Given the description of an element on the screen output the (x, y) to click on. 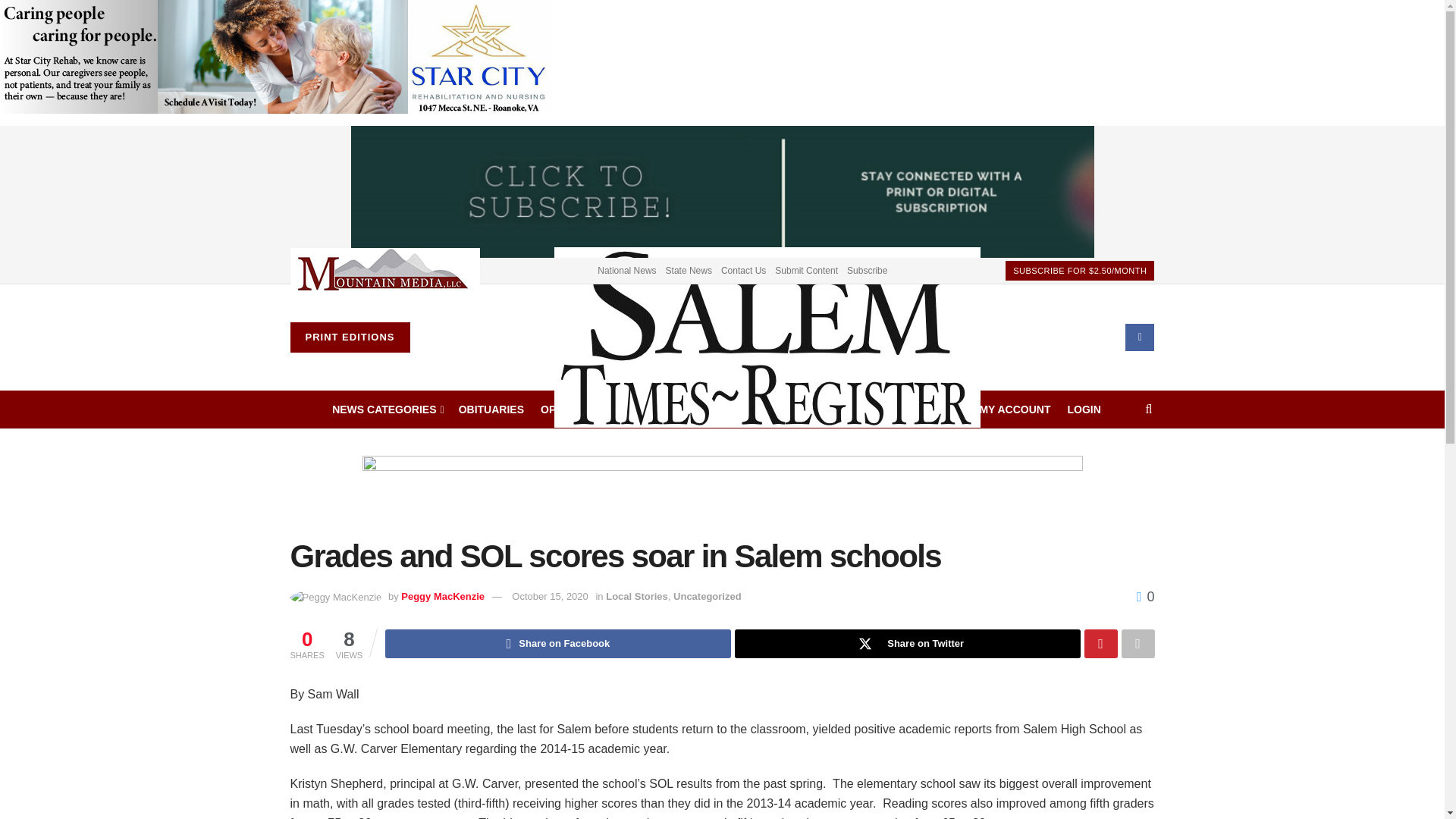
PRINT EDITIONS (349, 337)
LOGIN (1083, 409)
OBITUARIES (491, 409)
MY ACCOUNT (1013, 409)
SPIRITUAL (692, 409)
National News (626, 270)
Contact Us (742, 270)
Subscribe (866, 270)
EEDITION (764, 409)
Submit Content (806, 270)
NEWS CATEGORIES (386, 409)
LEGALS (623, 409)
CONTACT US (927, 409)
State News (688, 270)
OPINION (562, 409)
